Given the description of an element on the screen output the (x, y) to click on. 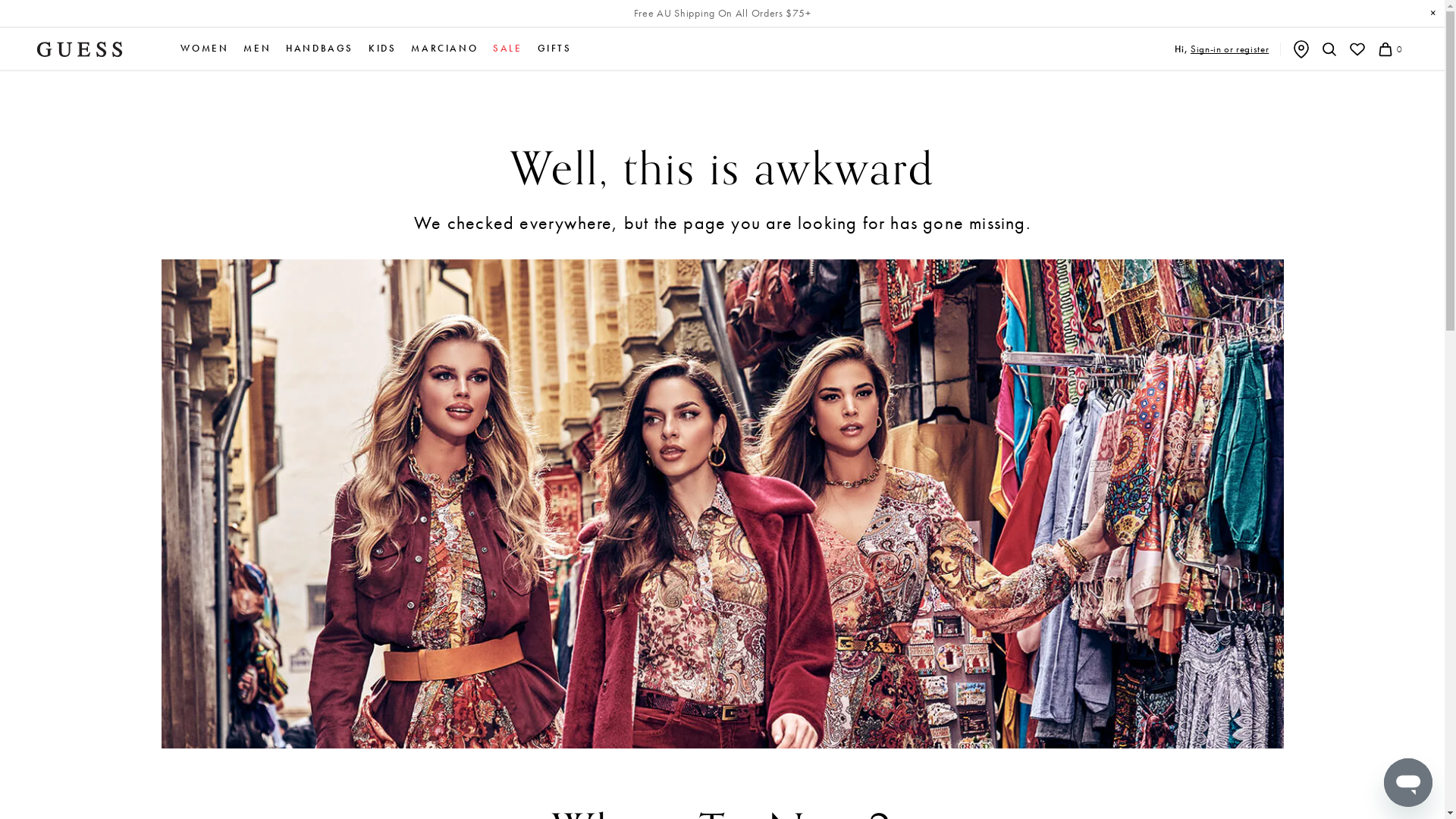
HANDBAGS Element type: text (319, 48)
SALE Element type: text (506, 48)
Sign-in or register Element type: text (1229, 48)
Free AU Shipping On All Orders $75+ Element type: text (722, 13)
GIFTS Element type: text (554, 48)
Submit Element type: text (15, 8)
MEN Element type: text (256, 48)
MARCIANO Element type: text (444, 48)
Button to launch messaging window Element type: hover (1407, 782)
0 Element type: text (1389, 49)
WOMEN Element type: text (204, 48)
KIDS Element type: text (381, 48)
